Given the description of an element on the screen output the (x, y) to click on. 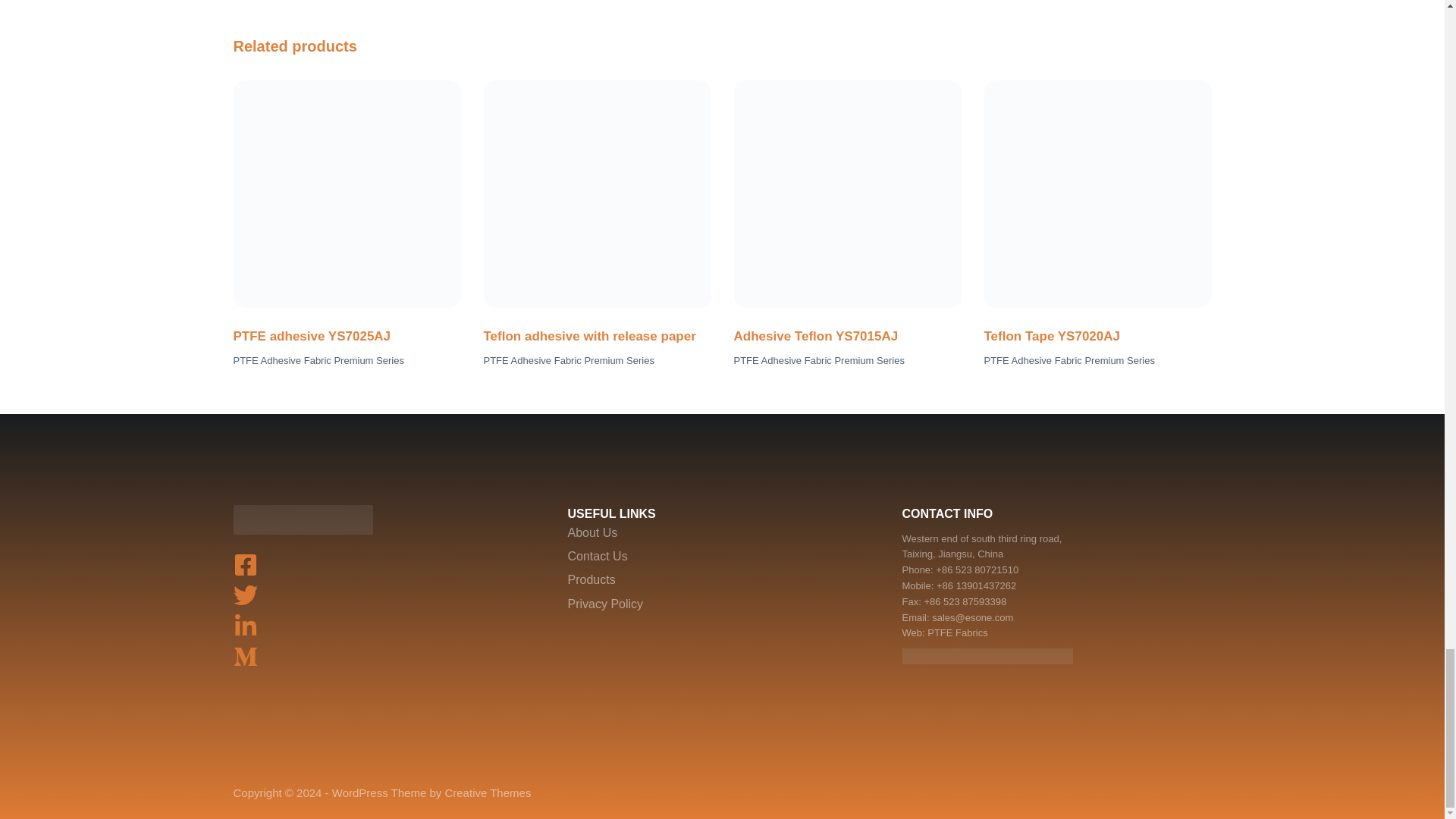
teflon-adhesive (597, 193)
ptfe-adhesive-tape-for-packing-industry (1097, 193)
ptfe-adhesive-tape-for-packing-machine (346, 193)
ad37r-q9a5w (846, 193)
